Given the description of an element on the screen output the (x, y) to click on. 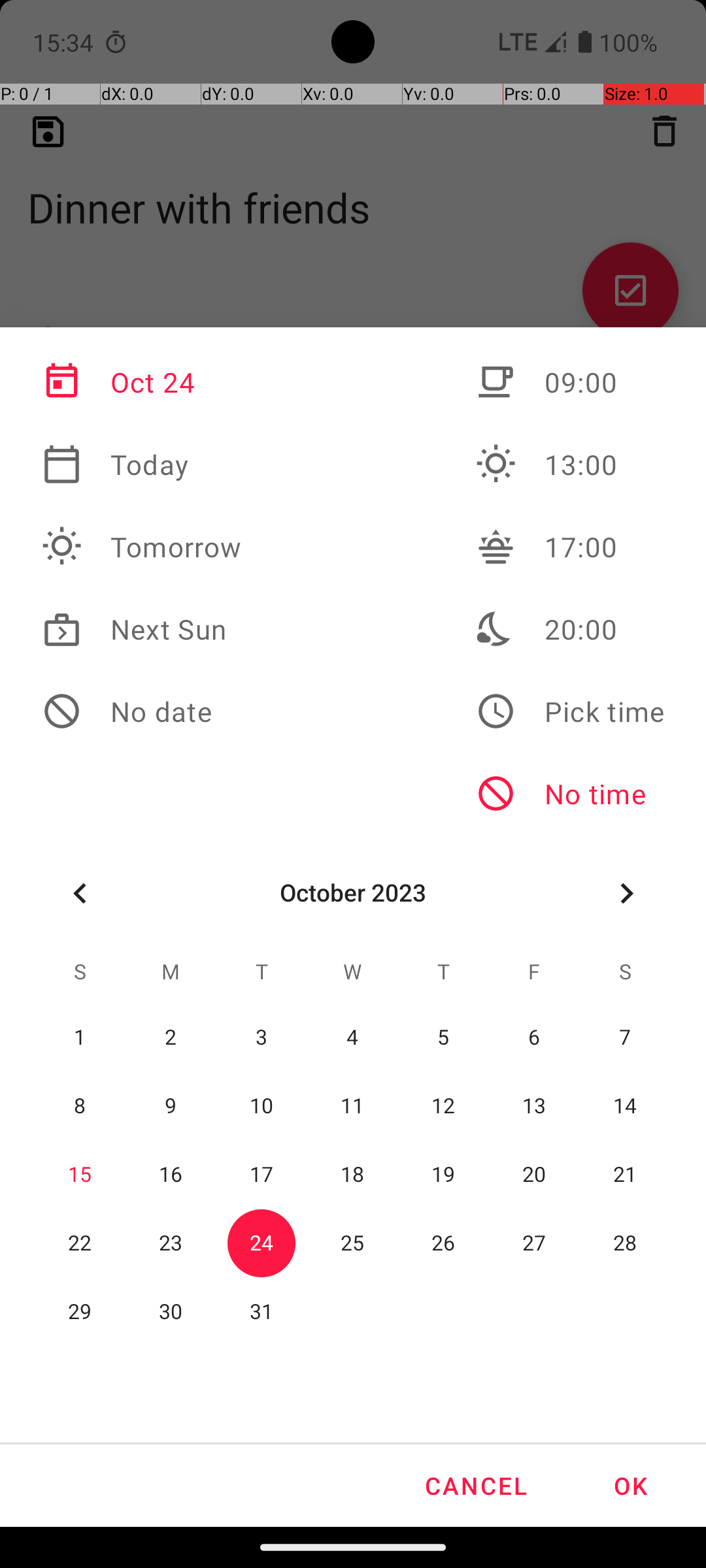
Oct 24 Element type: android.widget.CompoundButton (141, 382)
